Given the description of an element on the screen output the (x, y) to click on. 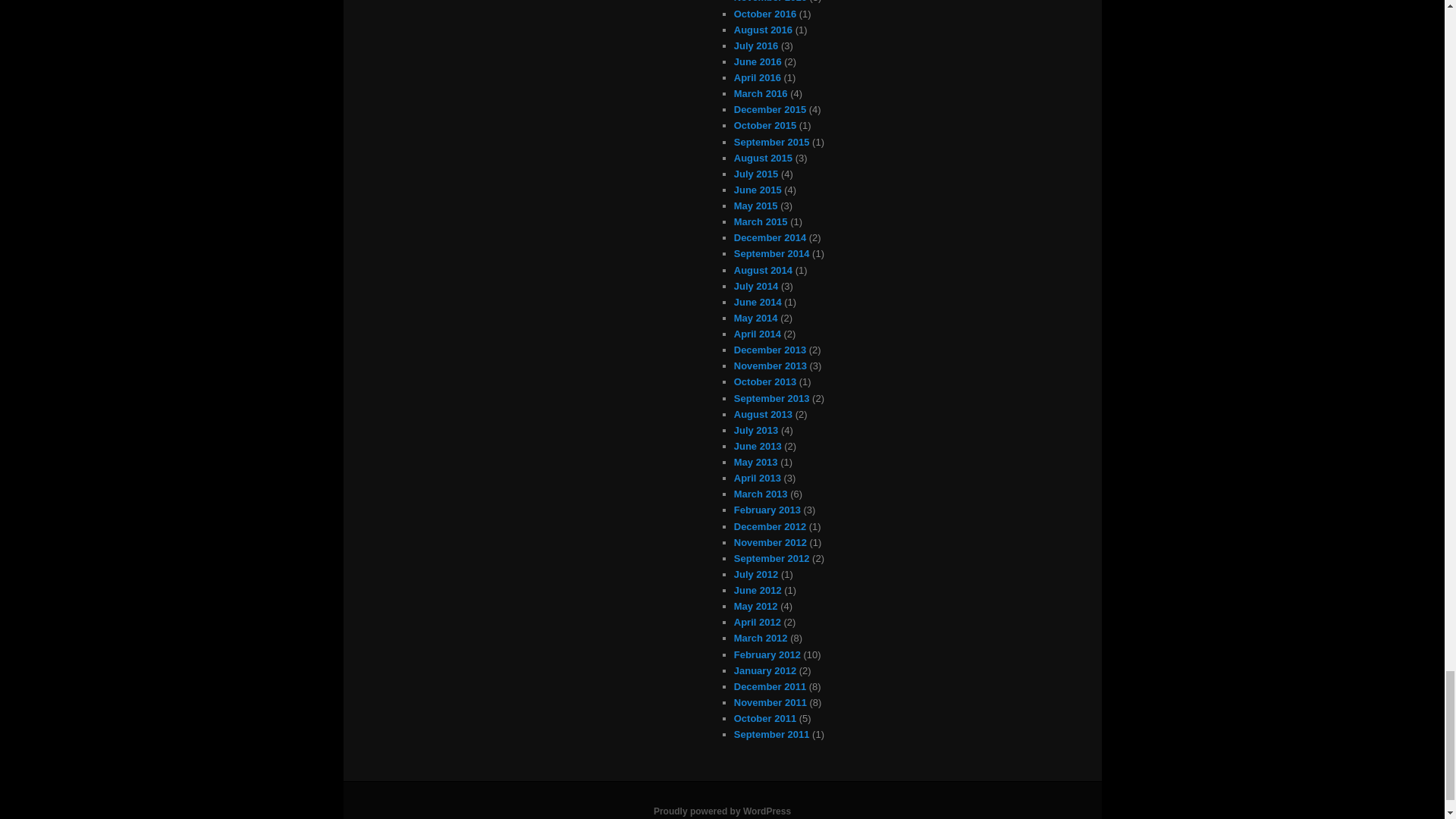
Semantic Personal Publishing Platform (721, 810)
